Given the description of an element on the screen output the (x, y) to click on. 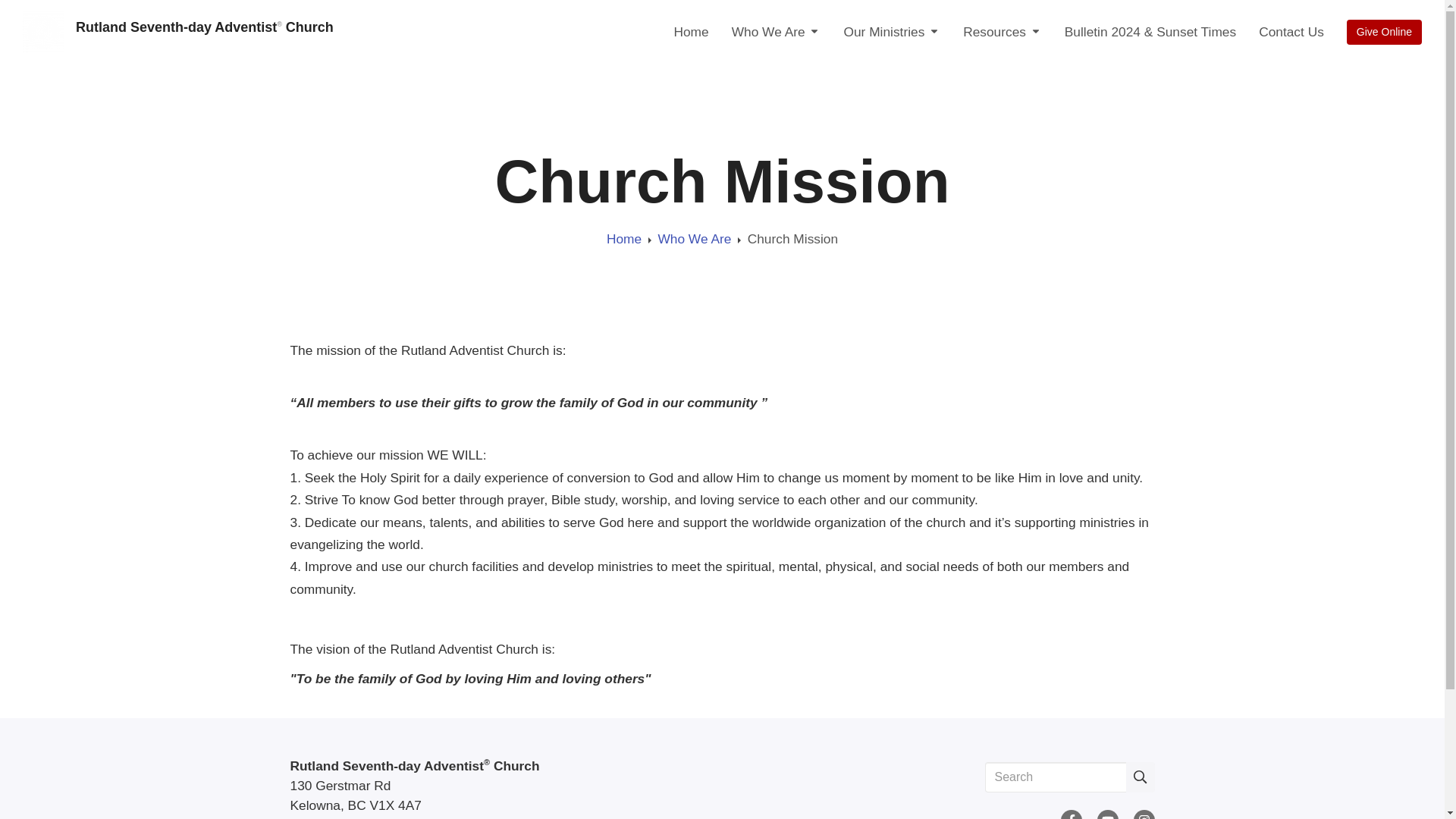
250-860-5096 (330, 818)
Contact Us (1291, 31)
Give Online (1384, 32)
Home (690, 31)
Church Mission (793, 238)
Who We Are (776, 31)
Our Ministries (891, 31)
Home (624, 238)
Who We Are (694, 238)
Resources (1002, 31)
